Given the description of an element on the screen output the (x, y) to click on. 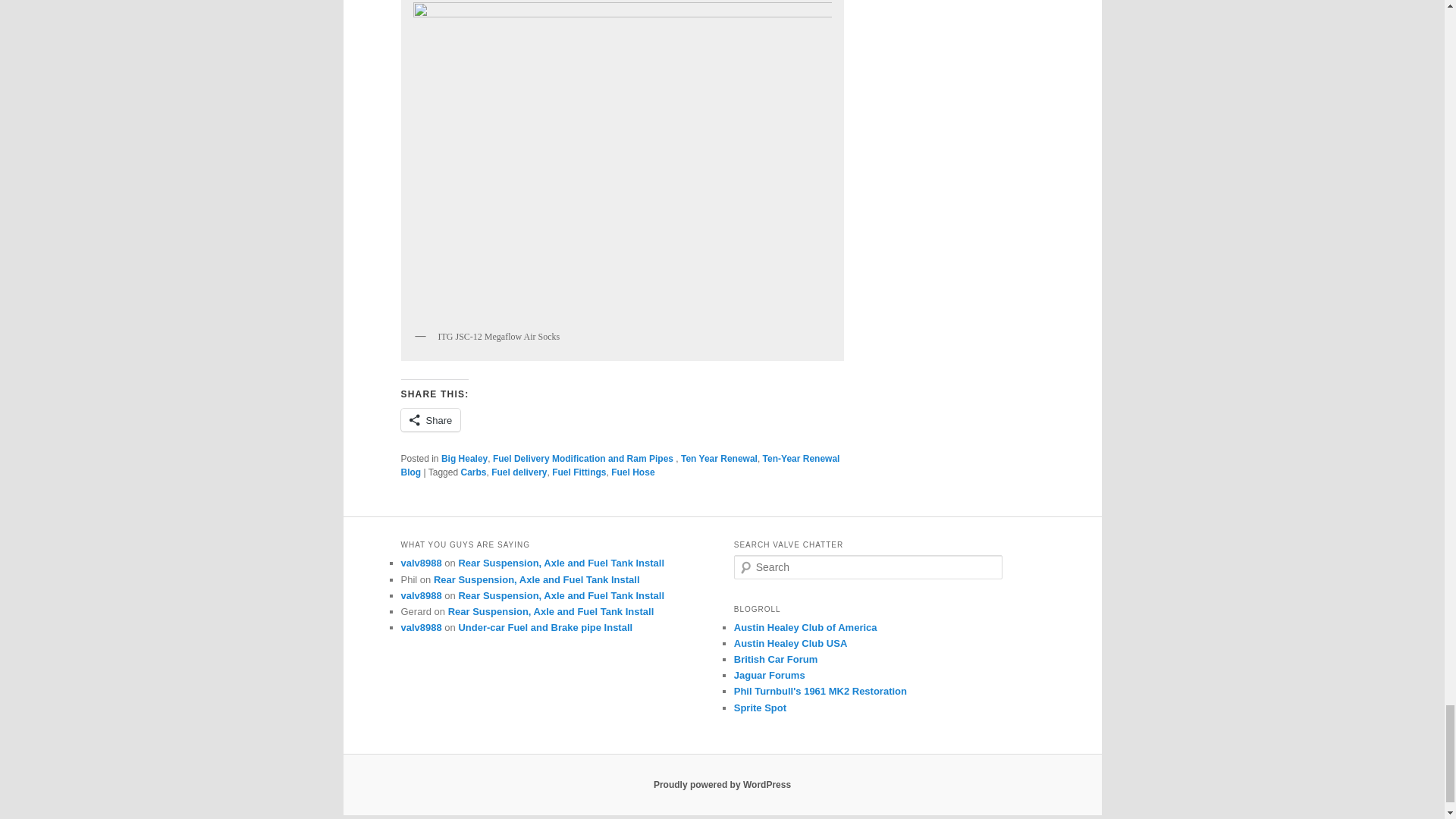
 Welcome to the Austin-Healey Club of America  (805, 627)
A Forum for all British Marques (775, 659)
The Austin Healey Club USA  (790, 643)
